Given the description of an element on the screen output the (x, y) to click on. 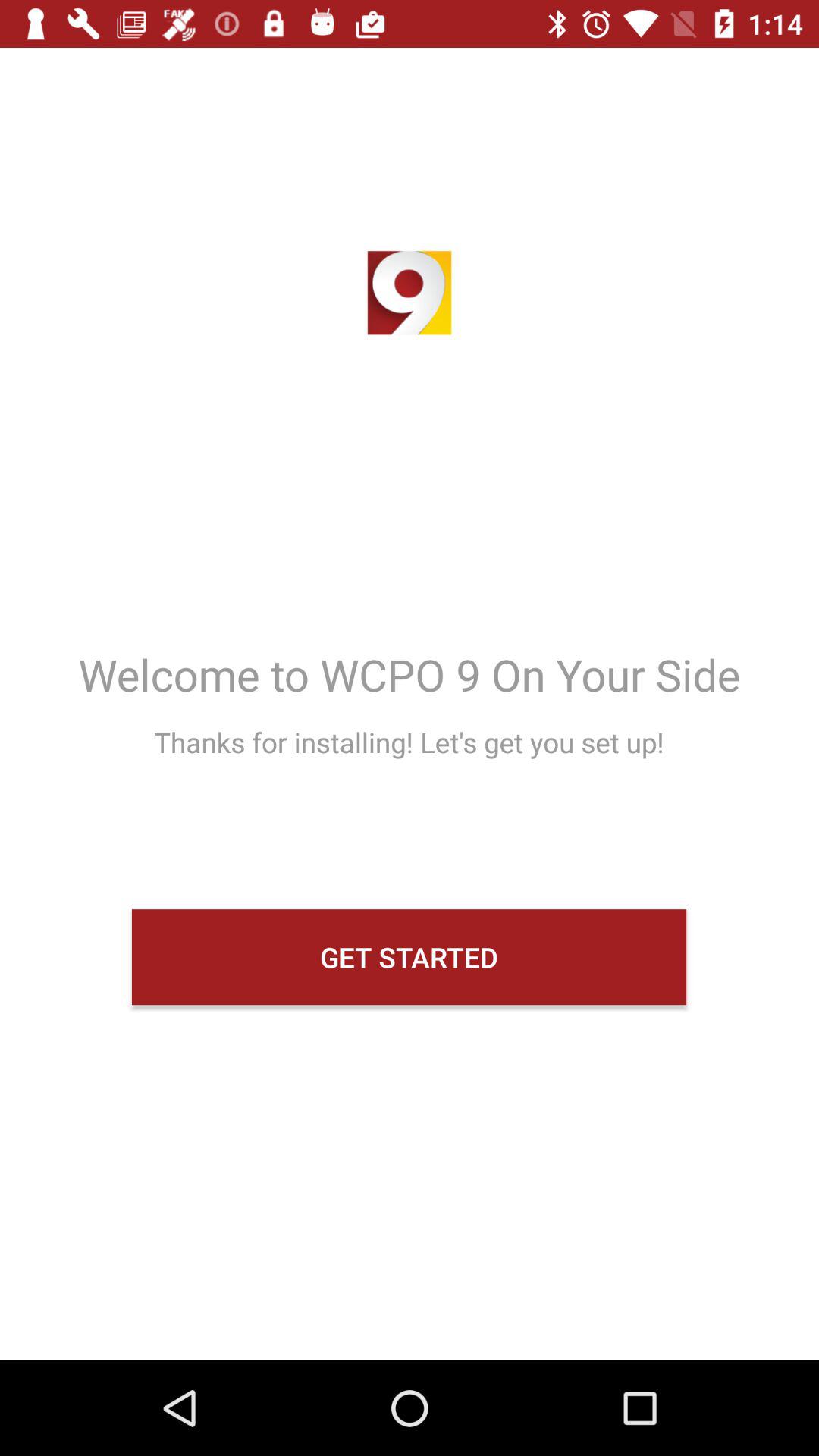
scroll until the get started (408, 956)
